Given the description of an element on the screen output the (x, y) to click on. 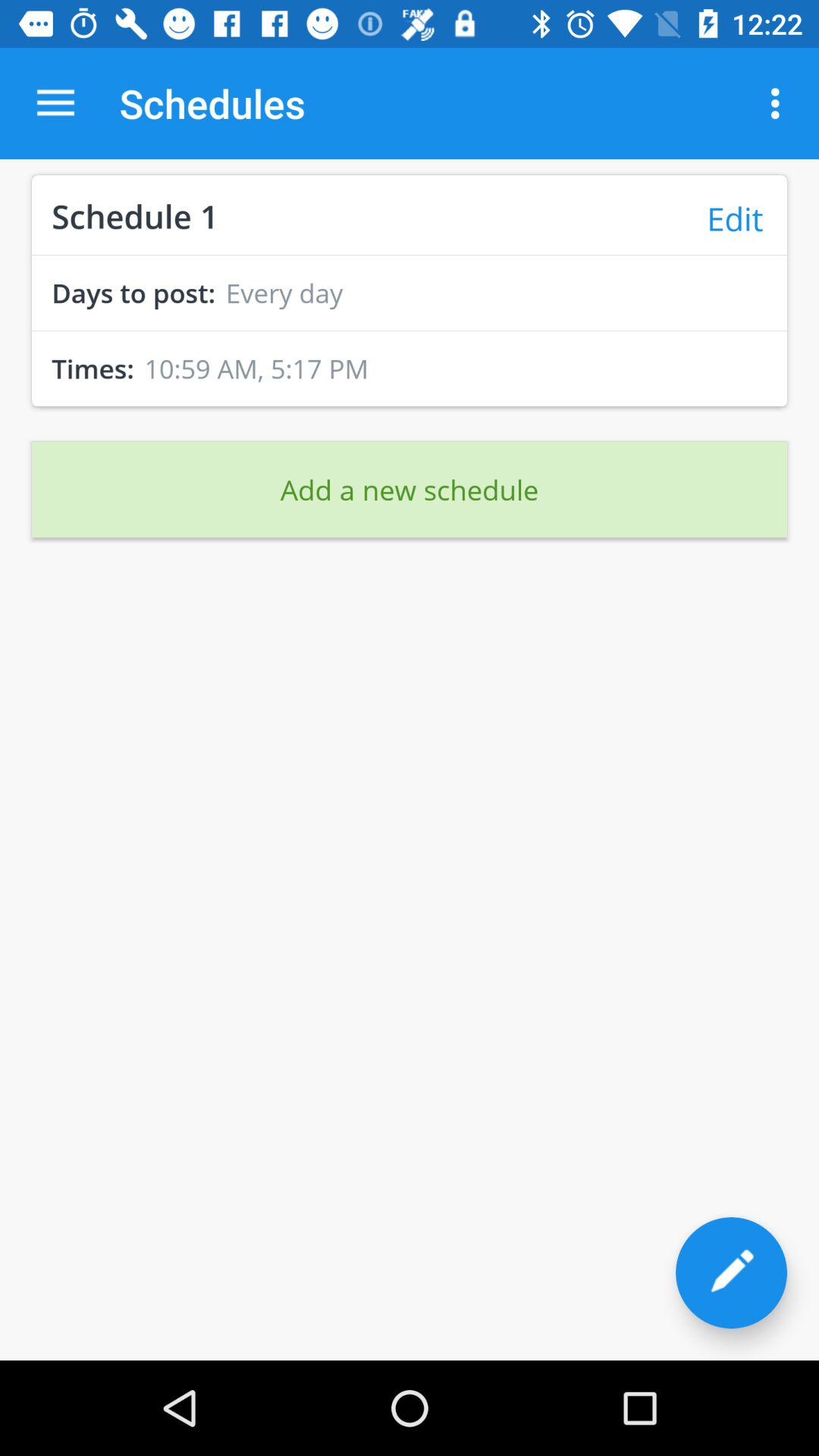
turn on icon above the times: icon (409, 330)
